Given the description of an element on the screen output the (x, y) to click on. 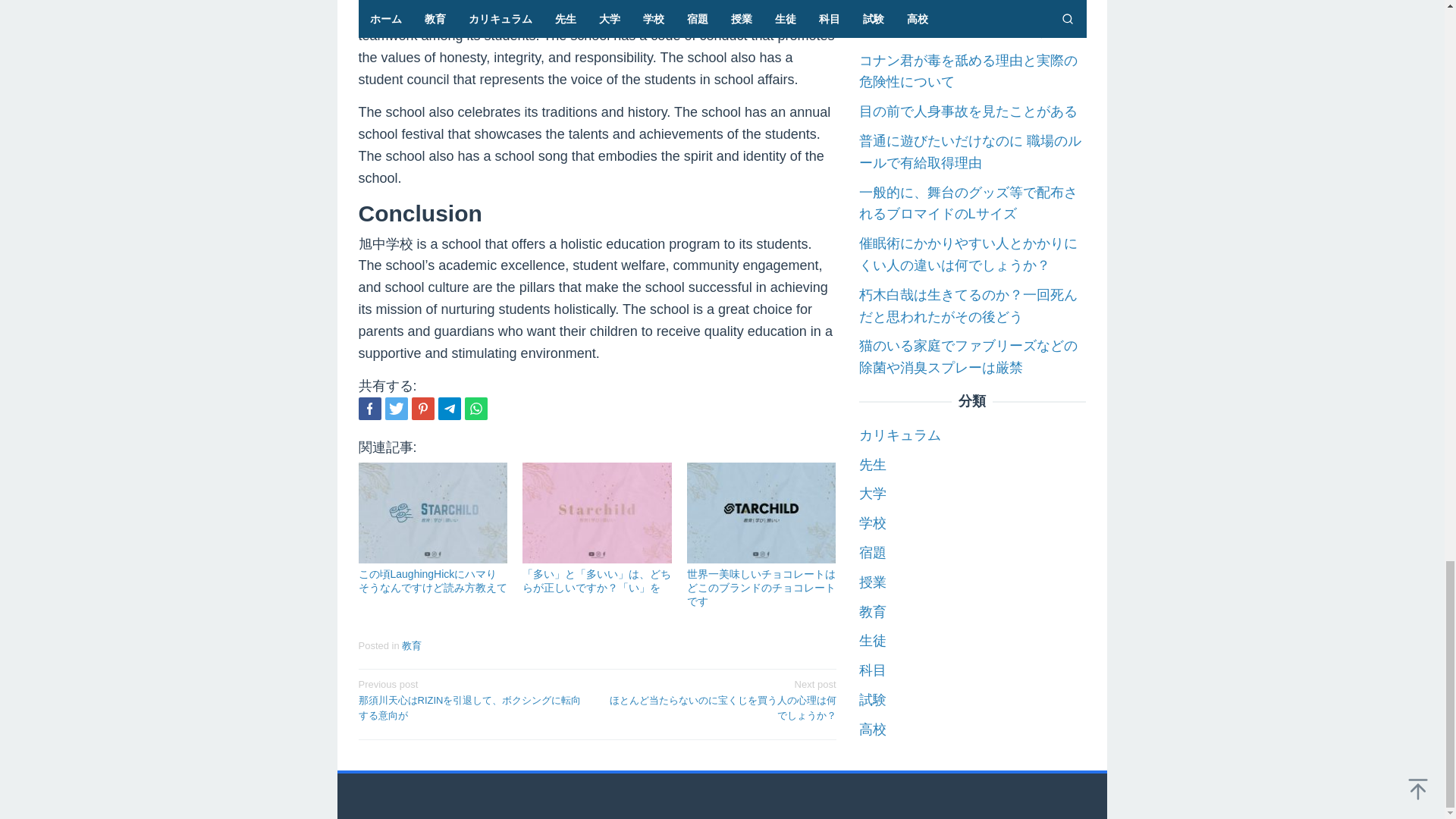
Telegram Share (449, 408)
Tweet this (396, 408)
Share this (369, 408)
Whatsapp (475, 408)
Pin this (421, 408)
